Given the description of an element on the screen output the (x, y) to click on. 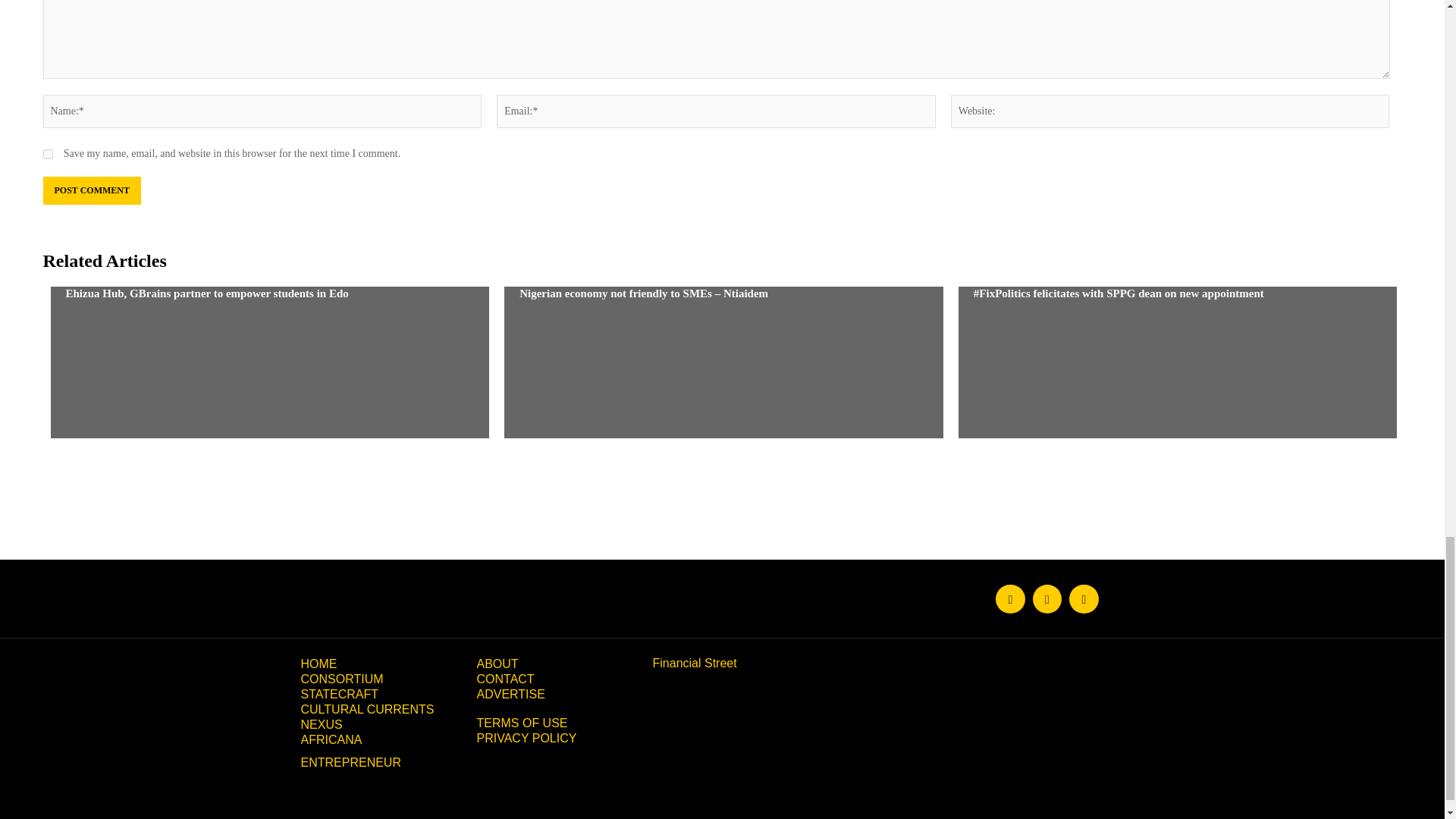
yes (47, 153)
Post Comment (90, 190)
